Given the description of an element on the screen output the (x, y) to click on. 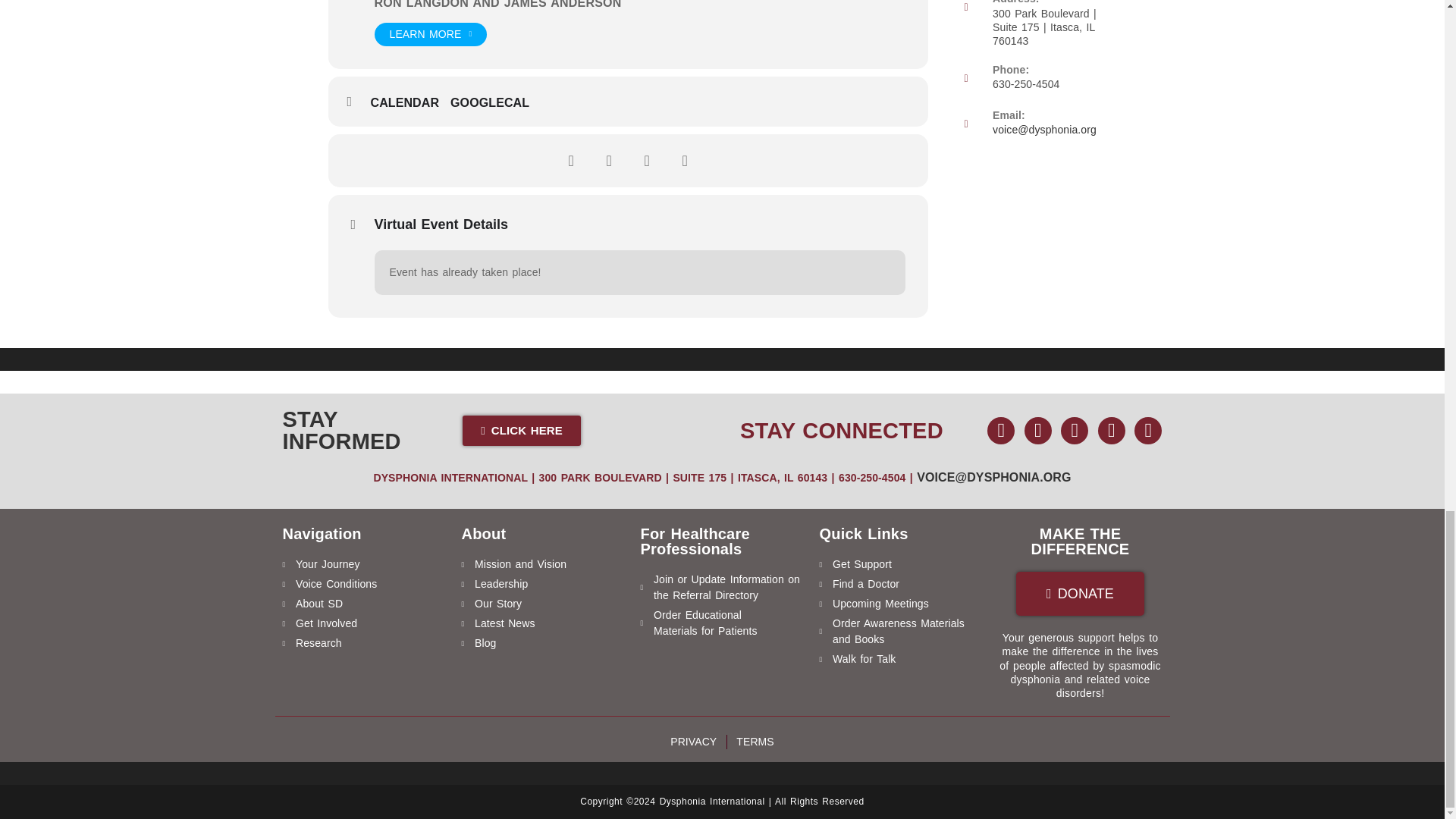
Share on facebook (570, 160)
Share on Twitter (608, 160)
Add to your calendar (409, 102)
Share on Linkedin (646, 160)
Add to google calendar (494, 102)
